Given the description of an element on the screen output the (x, y) to click on. 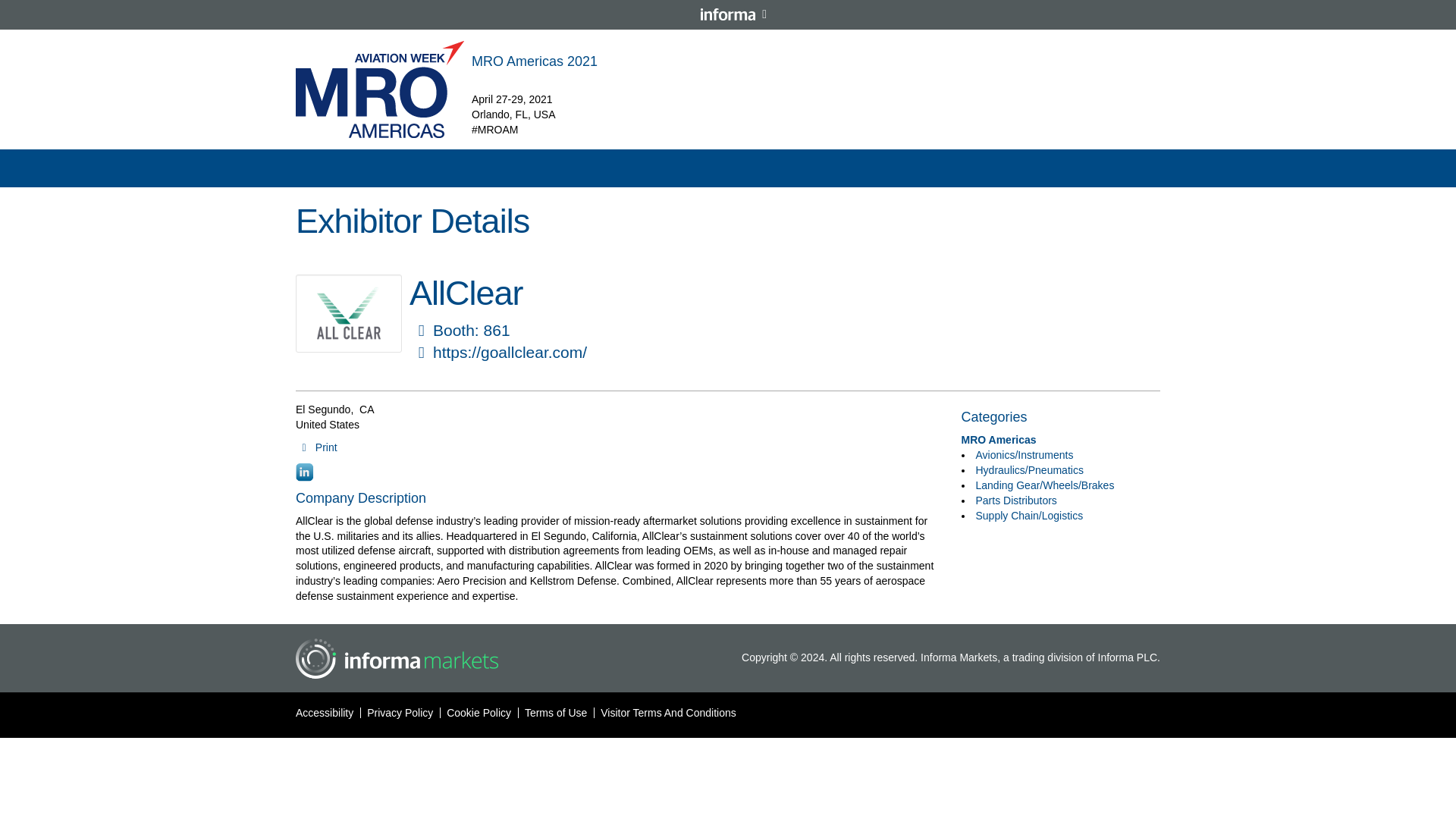
Print (316, 447)
Website (420, 352)
Print (316, 447)
Booth: 861 (460, 330)
Parts Distributors (1016, 500)
Map It (420, 330)
MRO Americas (998, 439)
